Given the description of an element on the screen output the (x, y) to click on. 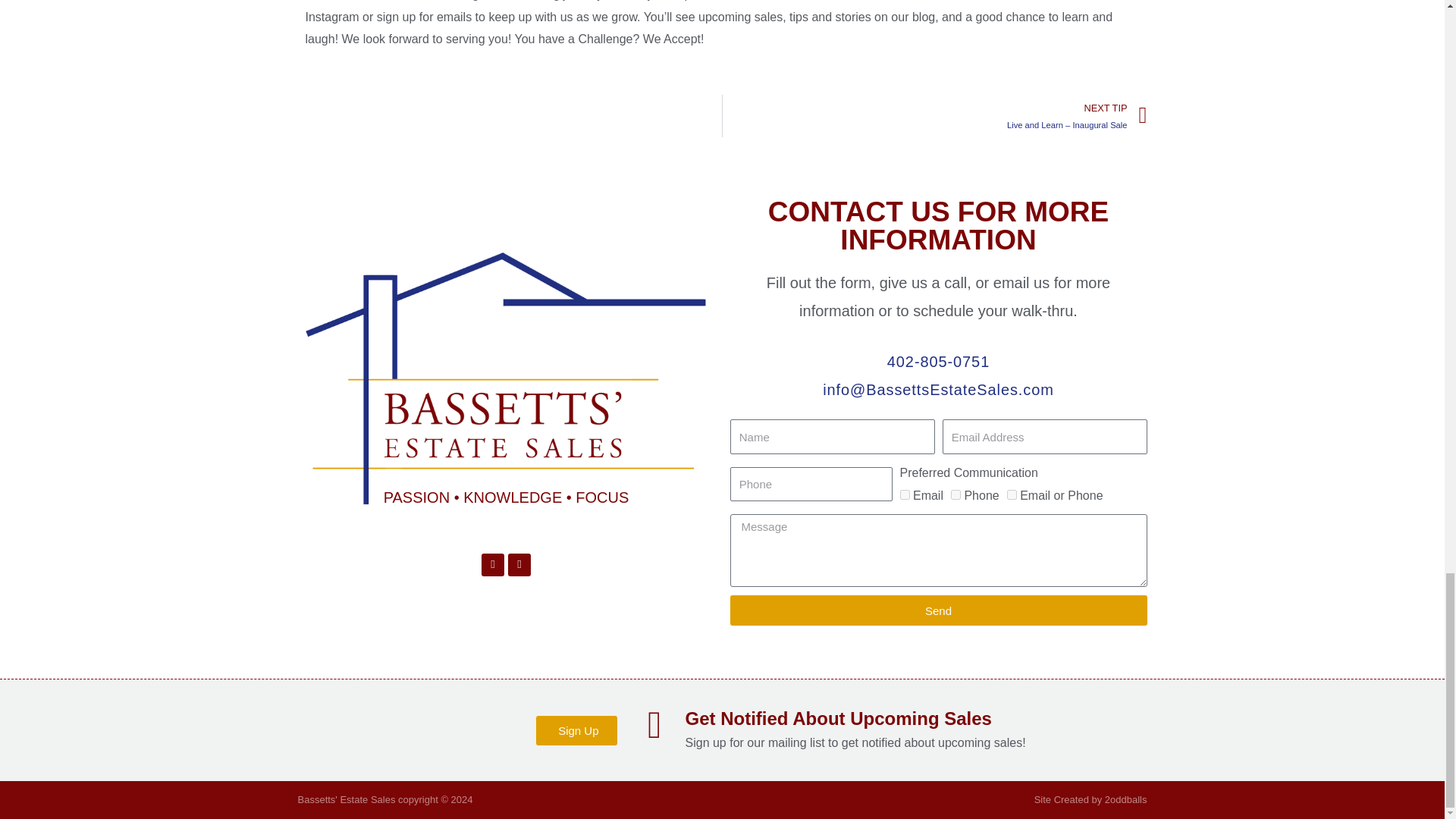
Facebook-f (492, 564)
Email (903, 494)
Sign Up (575, 729)
Send (938, 610)
402-805-0751 (938, 361)
Email or Phone (1011, 494)
Pinterest (519, 564)
Site Created by 2oddballs (1090, 799)
Phone (955, 494)
